Given the description of an element on the screen output the (x, y) to click on. 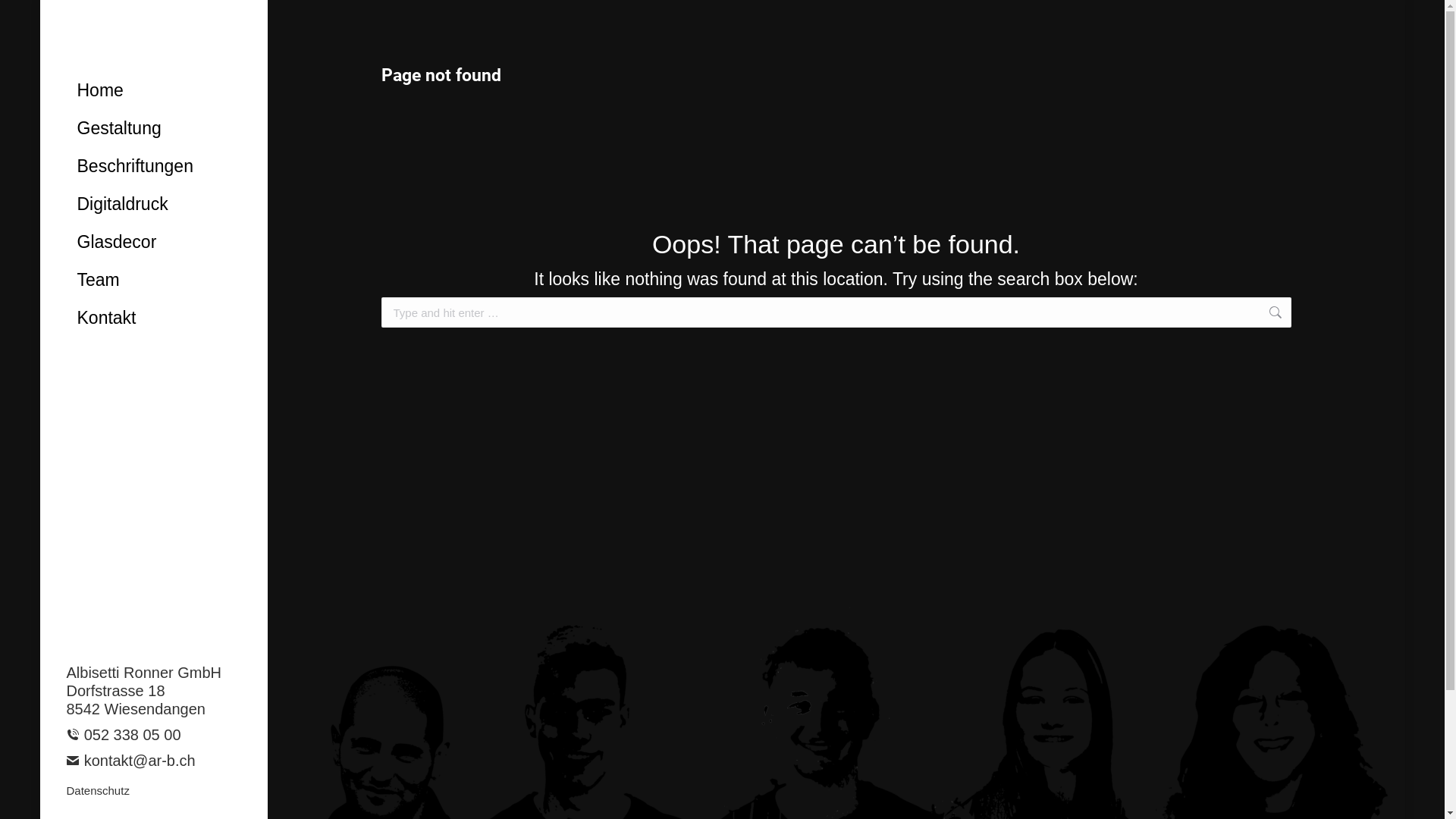
Team Element type: text (165, 279)
Beschriftungen Element type: text (165, 166)
kontakt@ar-b.ch Element type: text (130, 760)
Go! Element type: text (1313, 313)
Datenschutz Element type: text (97, 790)
Kontakt Element type: text (165, 317)
Digitaldruck Element type: text (165, 204)
Gestaltung Element type: text (165, 128)
Home Element type: text (165, 90)
052 338 05 00 Element type: text (123, 734)
Glasdecor Element type: text (165, 242)
